Given the description of an element on the screen output the (x, y) to click on. 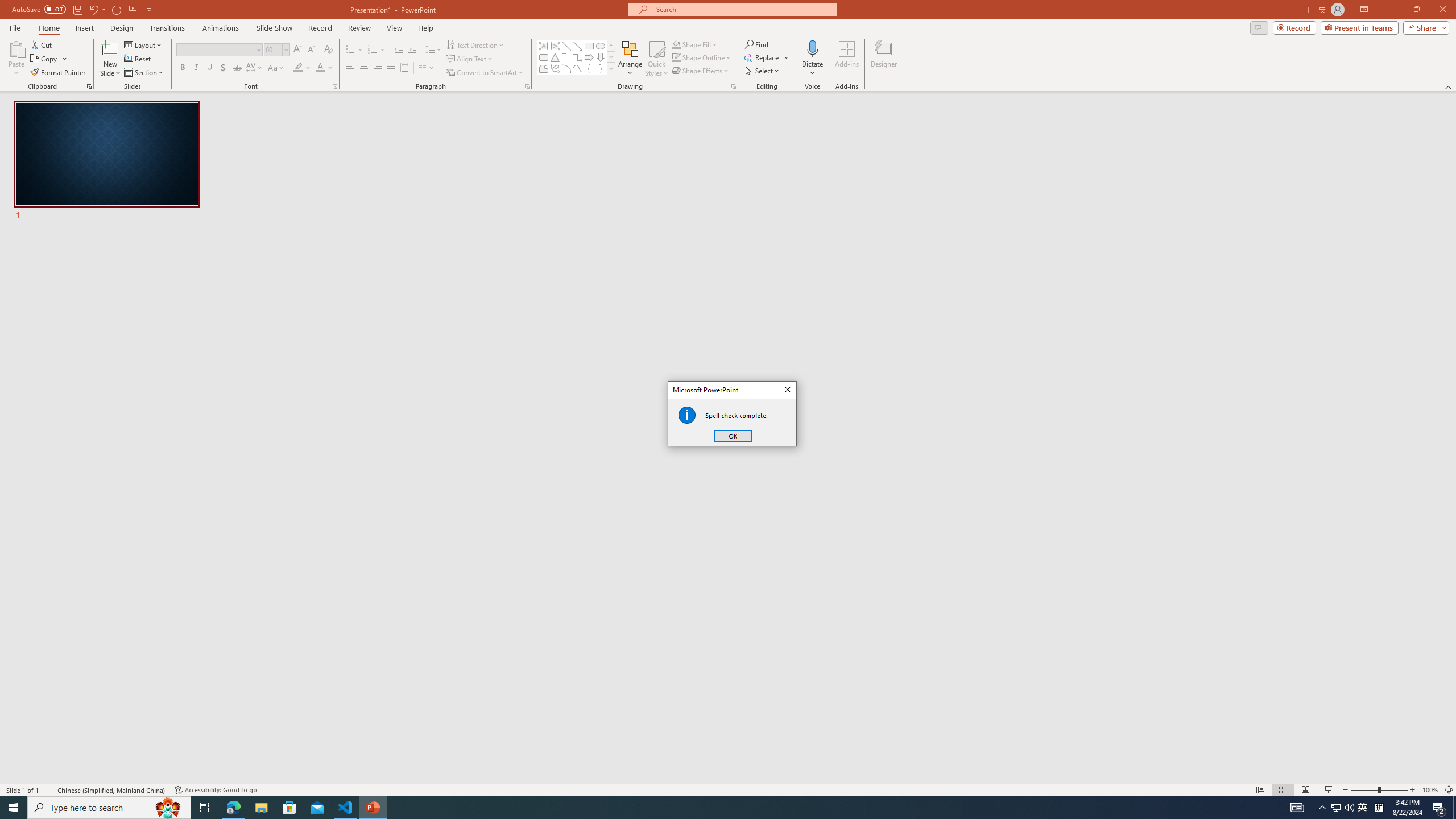
Class: Static (686, 415)
OK (732, 435)
